Given the description of an element on the screen output the (x, y) to click on. 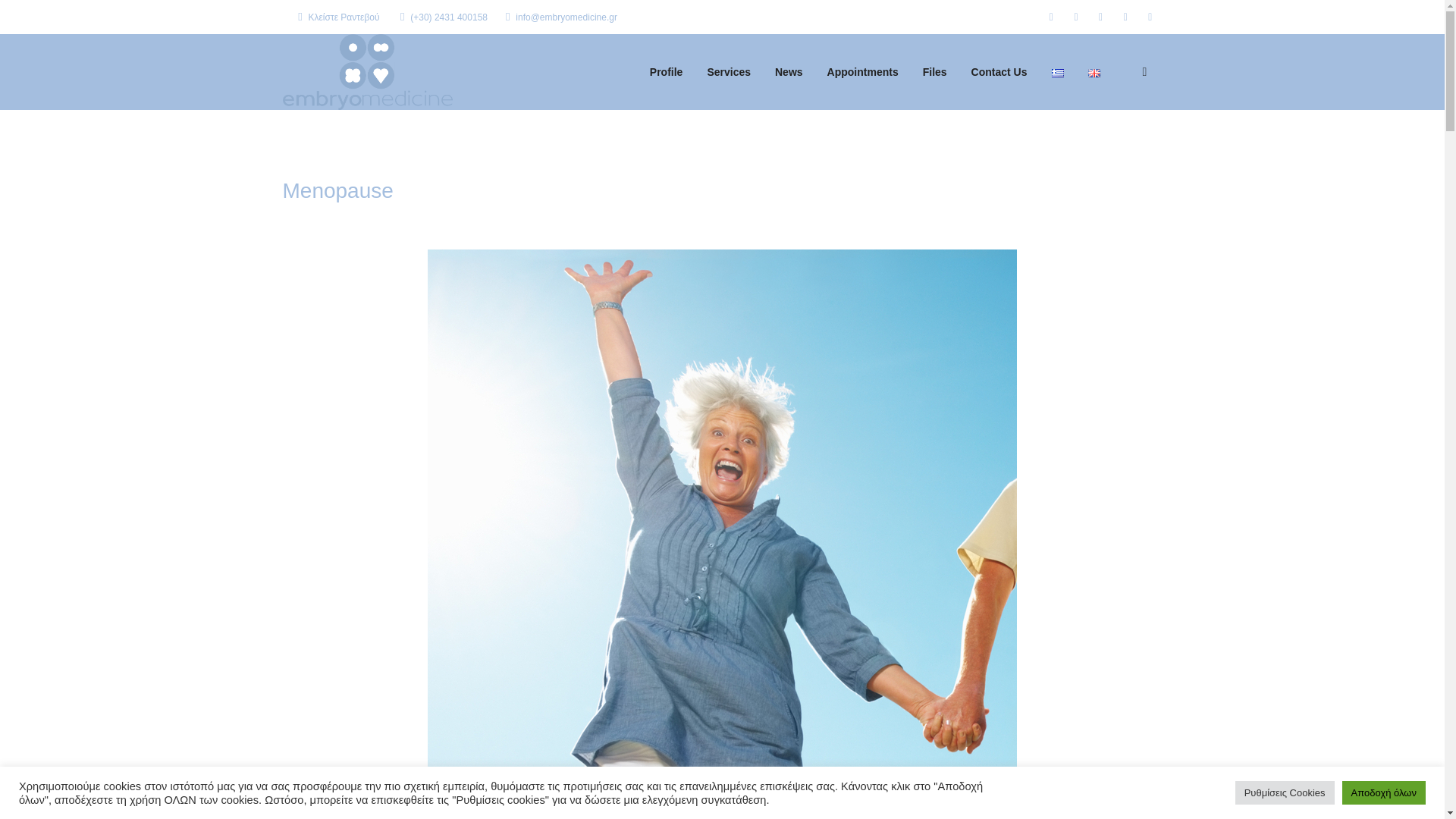
LinkedIn (1100, 16)
Twitter (1075, 16)
Services (728, 71)
Instagram (1125, 16)
Facebook (1050, 16)
YouTube (1149, 16)
